Given the description of an element on the screen output the (x, y) to click on. 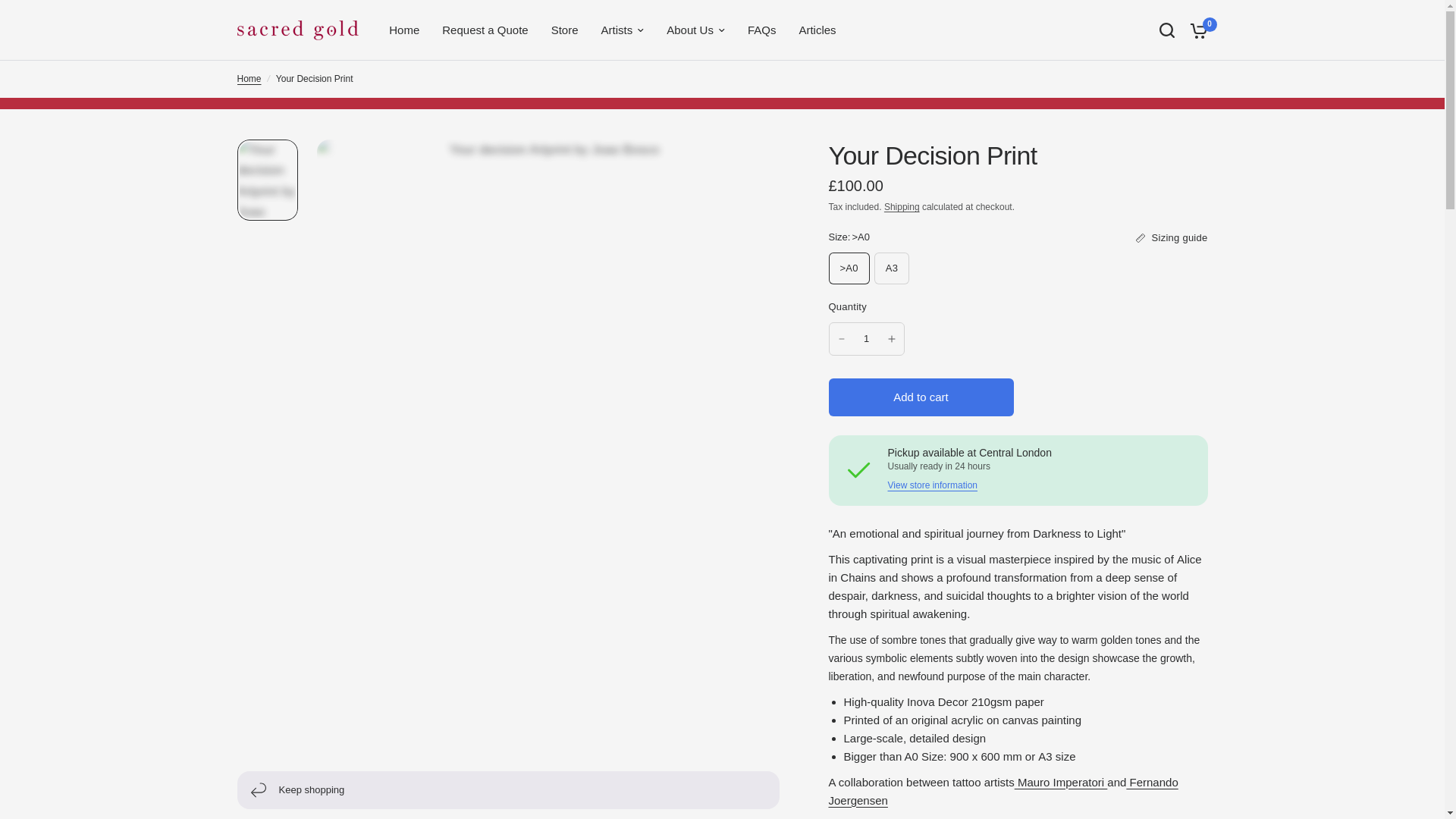
Request a Quote (484, 30)
Artists (623, 30)
Store (564, 30)
Home (403, 30)
